Given the description of an element on the screen output the (x, y) to click on. 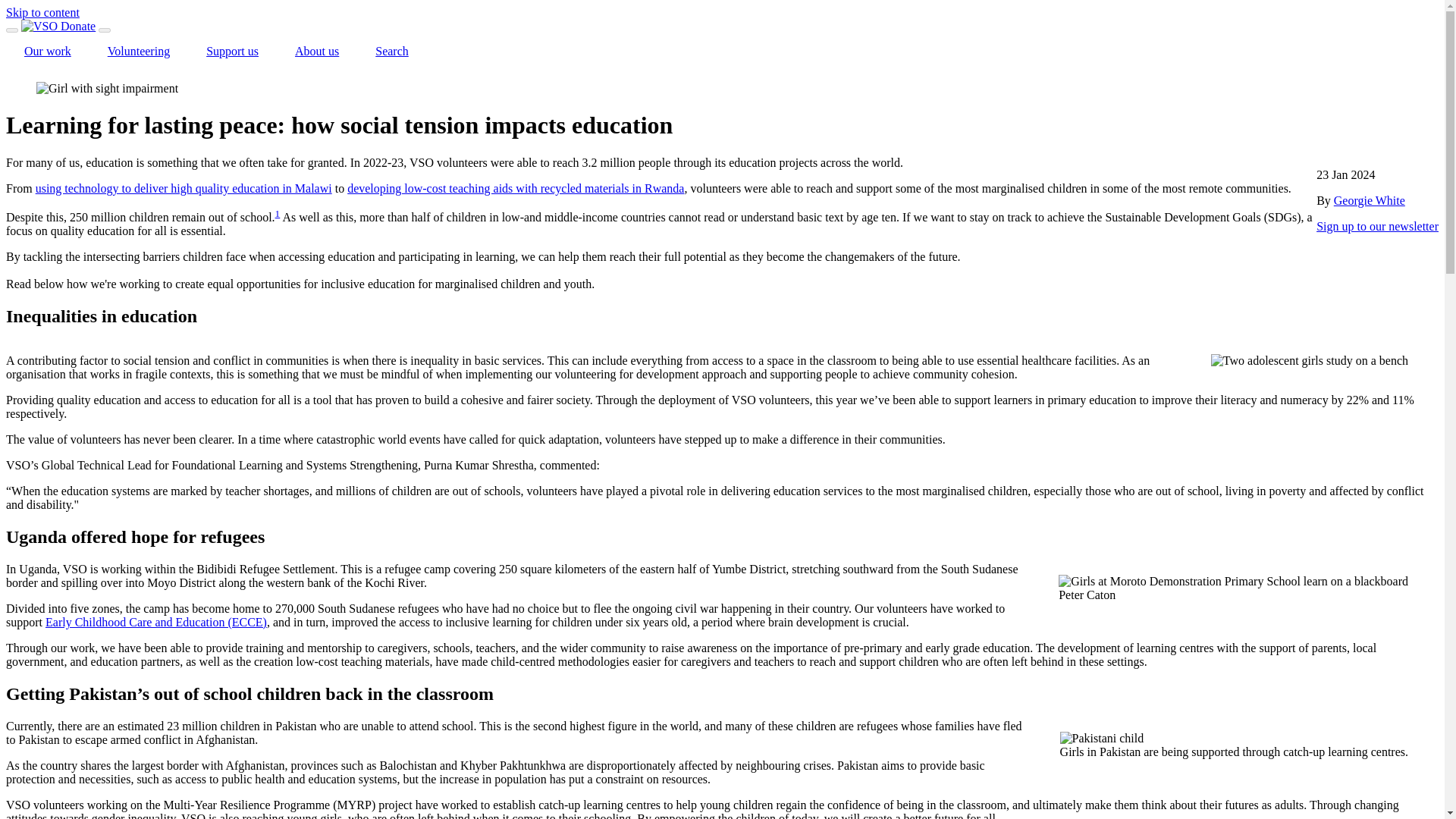
Support us (231, 51)
Georgie White (1369, 200)
Search (104, 29)
Our work (46, 51)
Skip to content (42, 11)
About us (316, 51)
Volunteering (137, 51)
Home (41, 25)
Search (391, 51)
Donate (78, 25)
using technology to deliver high quality education in Malawi (182, 187)
Menu (11, 29)
Main volunteering link (137, 51)
1 (278, 213)
